Given the description of an element on the screen output the (x, y) to click on. 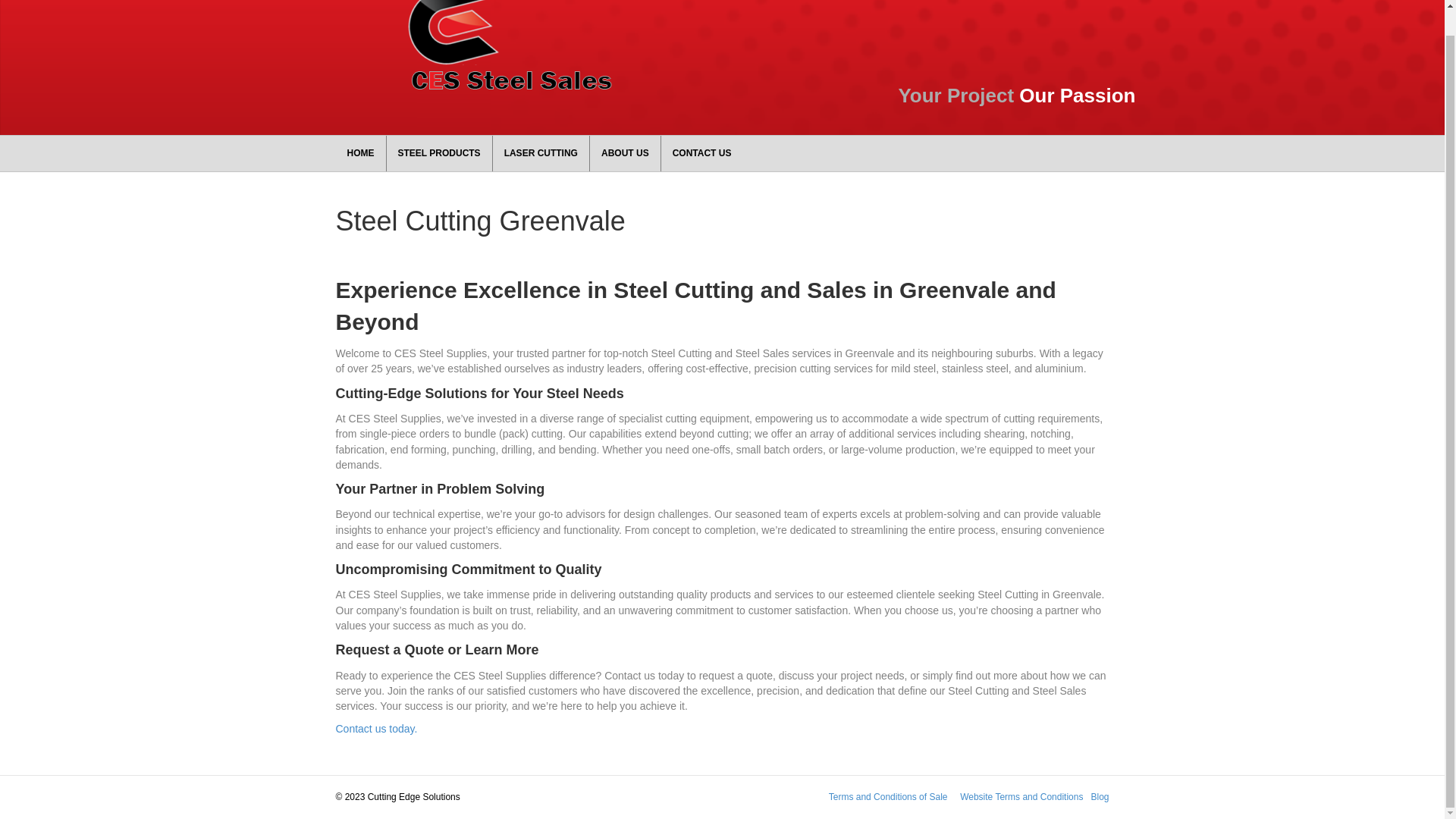
Terms and Conditions of Sale (887, 796)
Blog (1099, 796)
CONTACT US (701, 153)
Website Terms and Conditions (1021, 796)
Contact us today. (375, 728)
LASER CUTTING (541, 153)
STEEL PRODUCTS (439, 153)
ABOUT US (625, 153)
HOME (359, 153)
